Given the description of an element on the screen output the (x, y) to click on. 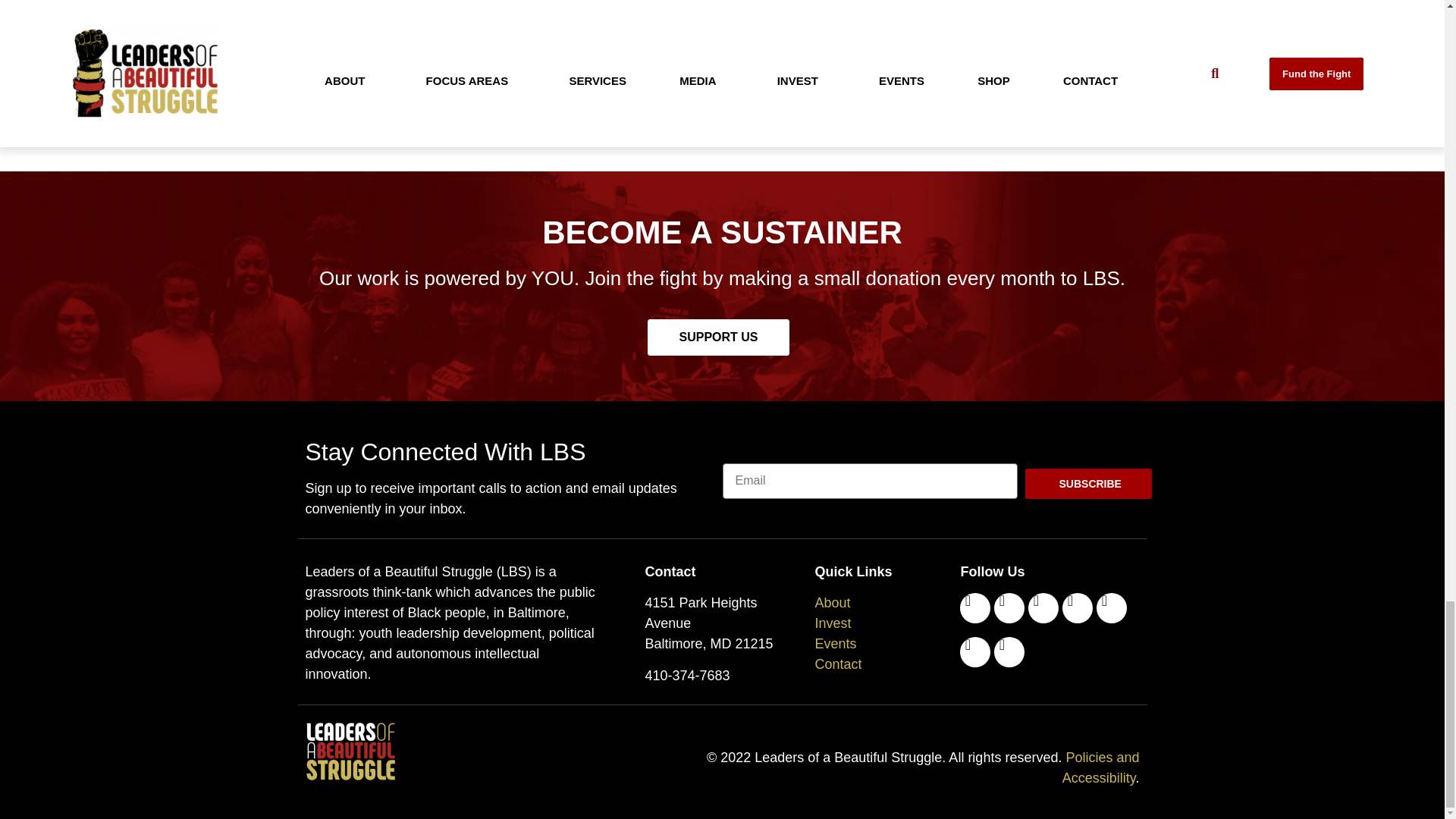
lbs logo (351, 750)
